Given the description of an element on the screen output the (x, y) to click on. 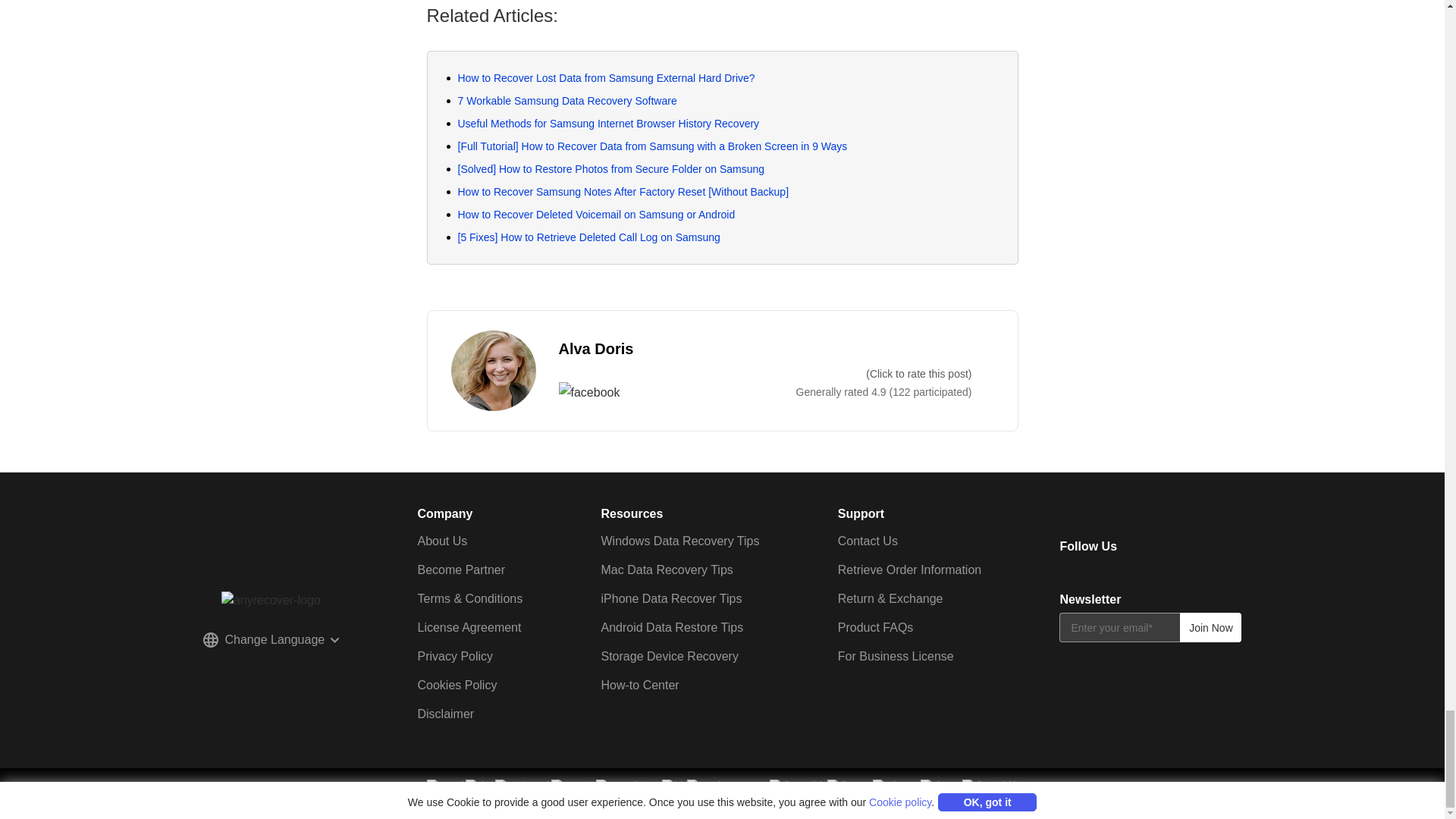
Join Now (1210, 627)
discord (1231, 547)
facebook (1144, 547)
youtube (1202, 547)
twitter (1172, 547)
